Given the description of an element on the screen output the (x, y) to click on. 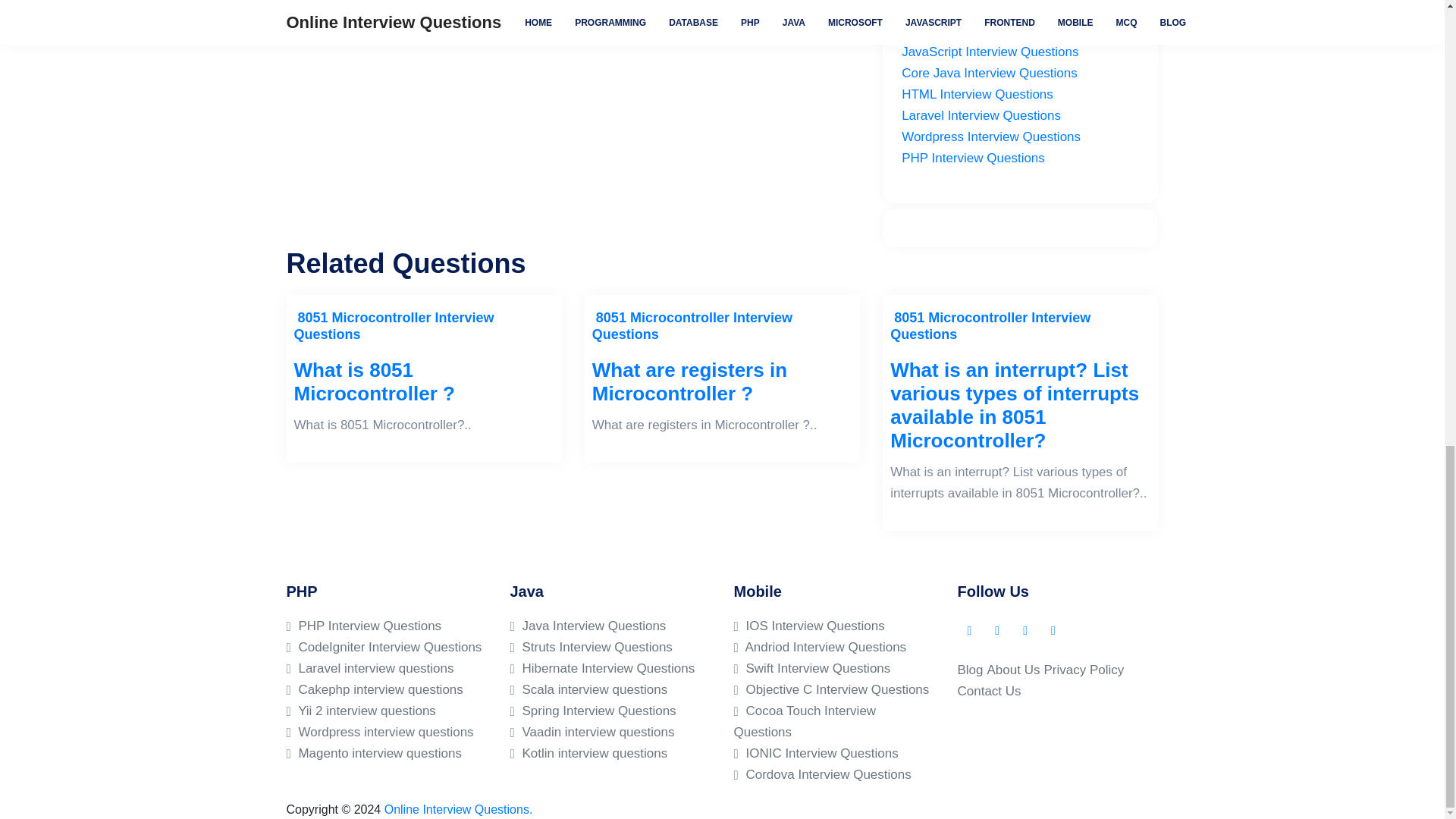
AngularJs Interview Questions (988, 9)
What is 8051 Microcontroller ? (424, 381)
What are registers in Microcontroller ? (721, 381)
Online Interview Questions (458, 809)
